Given the description of an element on the screen output the (x, y) to click on. 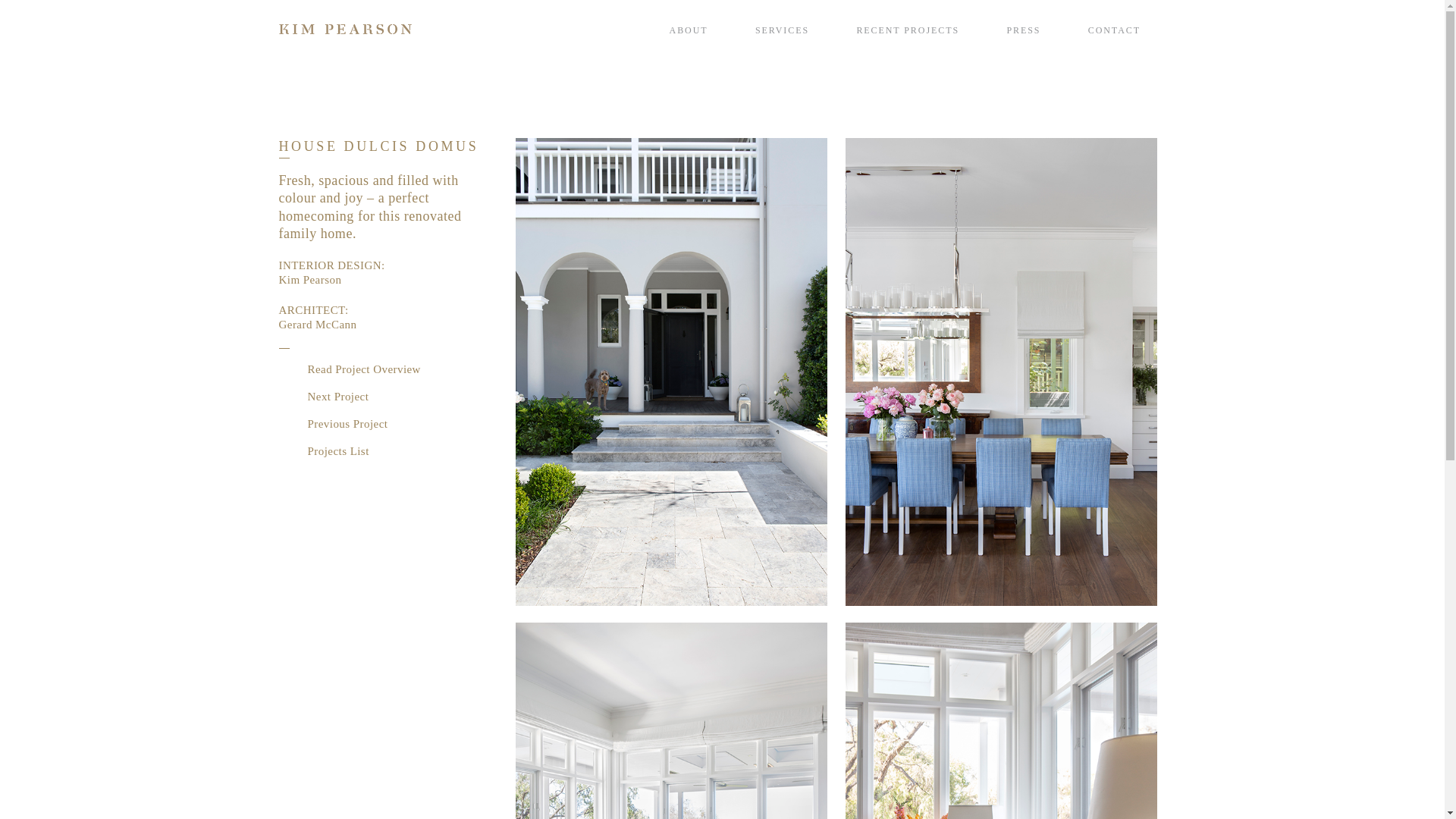
Previous Project Element type: text (333, 423)
ABOUT Element type: text (688, 30)
CONTACT Element type: text (1114, 30)
SERVICES Element type: text (782, 30)
Read Project Overview Element type: text (388, 370)
PRESS Element type: text (1023, 30)
RECENT PROJECTS Element type: text (907, 30)
Next Project Element type: text (324, 396)
Projects List Element type: text (324, 451)
